Given the description of an element on the screen output the (x, y) to click on. 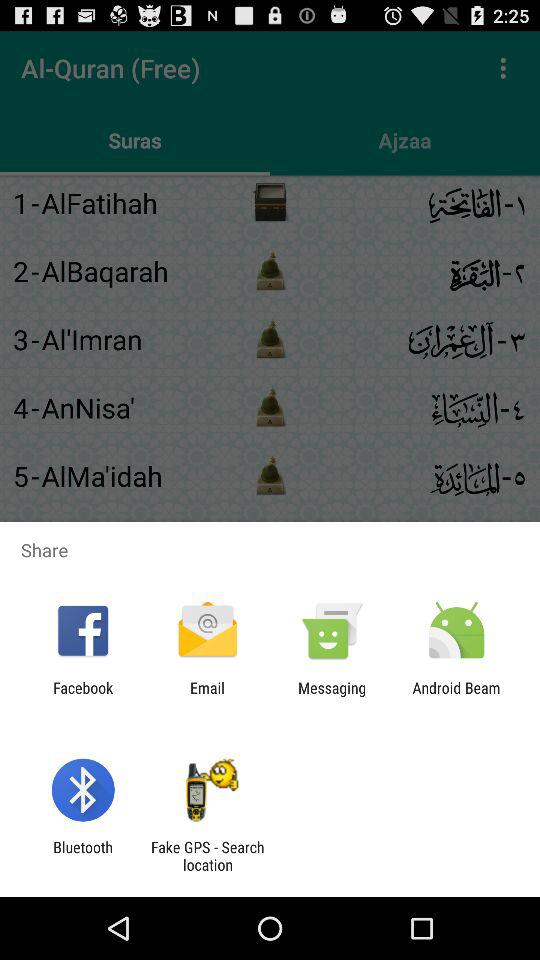
select the android beam item (456, 696)
